Given the description of an element on the screen output the (x, y) to click on. 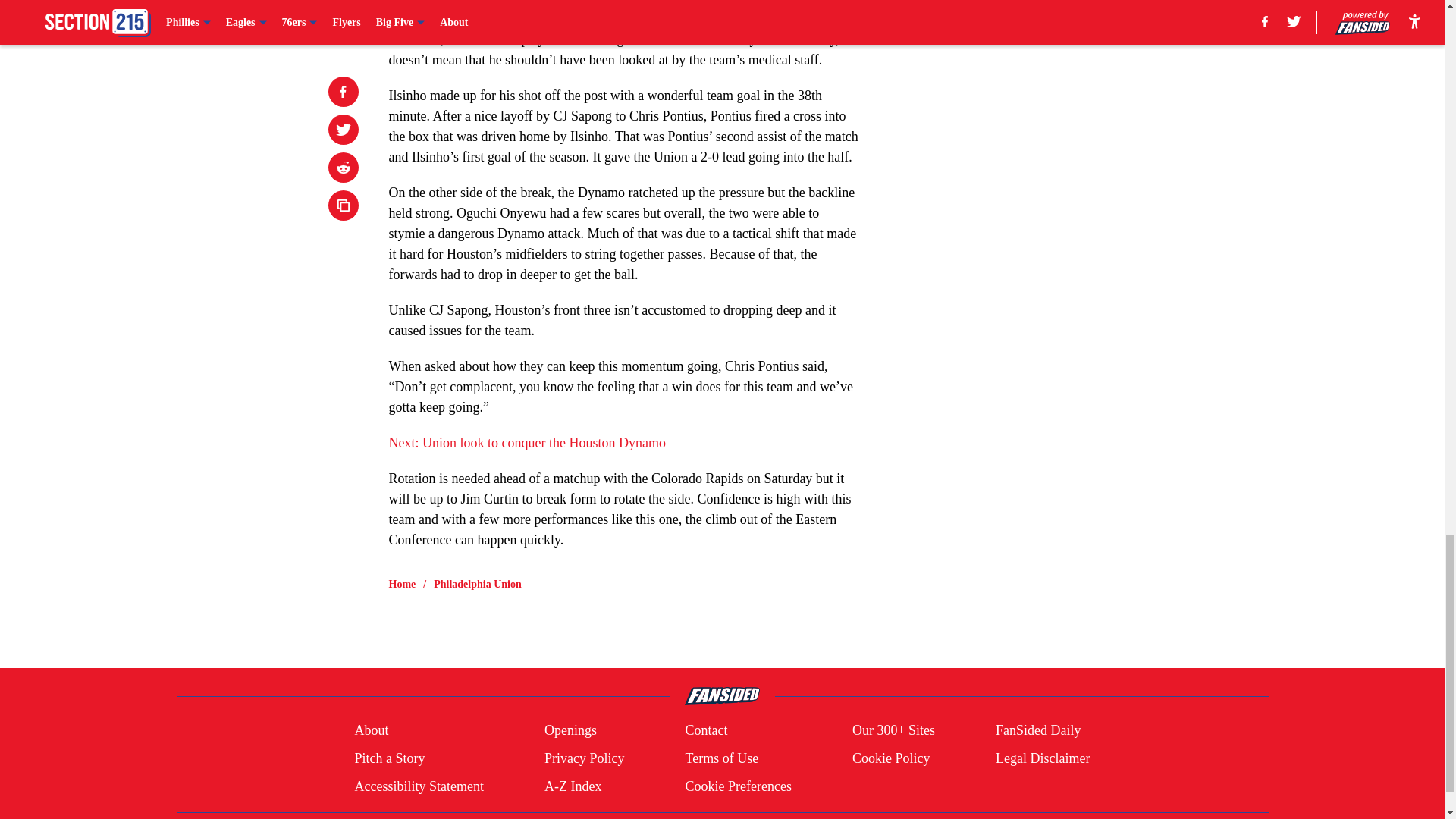
Philadelphia Union (477, 584)
Home (401, 584)
Next: Union look to conquer the Houston Dynamo (526, 442)
Privacy Policy (584, 758)
Contact (705, 730)
FanSided Daily (1038, 730)
Pitch a Story (389, 758)
About (370, 730)
Openings (570, 730)
